Given the description of an element on the screen output the (x, y) to click on. 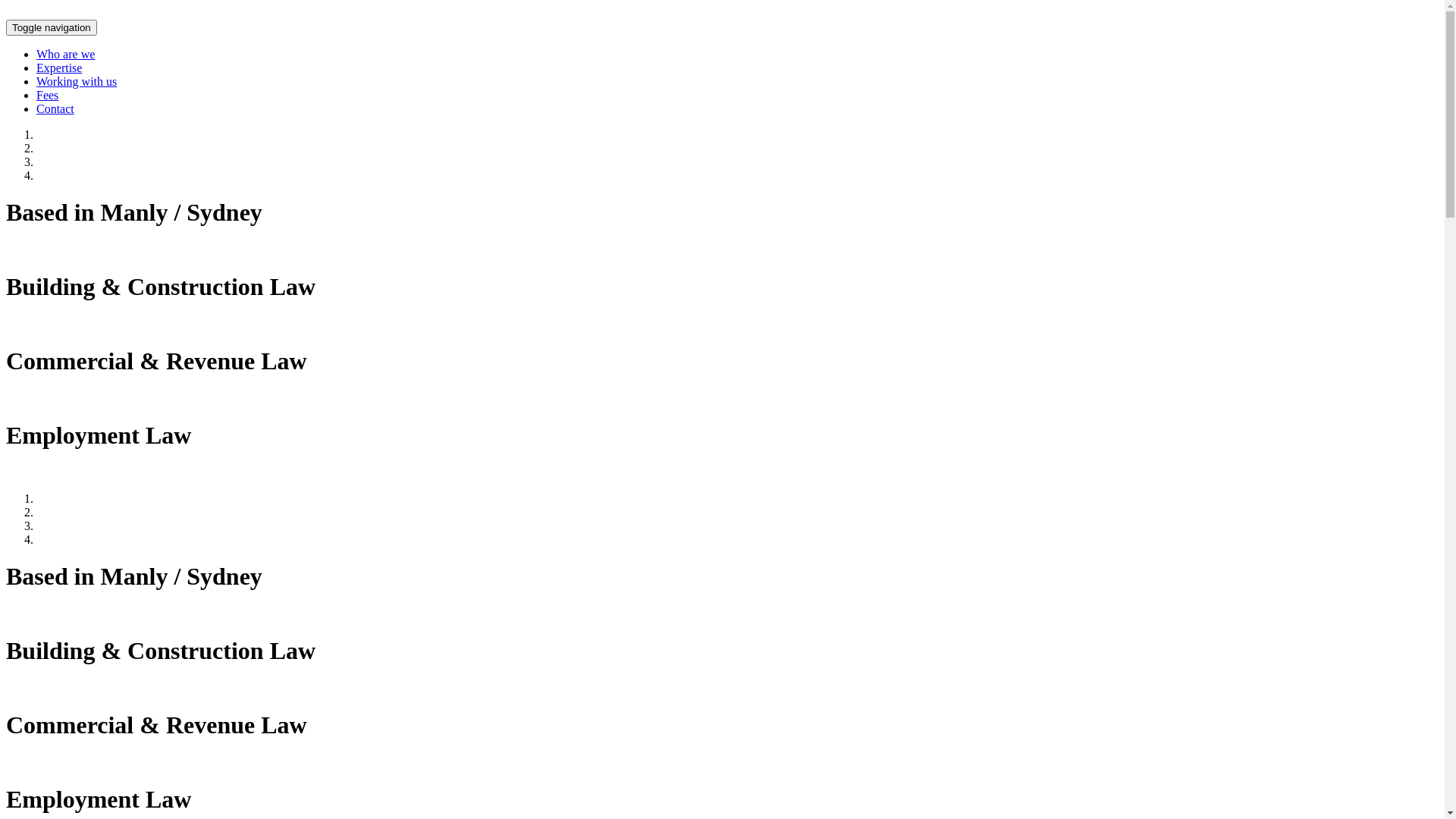
Who are we Element type: text (65, 53)
Working with us Element type: text (76, 81)
Expertise Element type: text (58, 67)
Toggle navigation Element type: text (51, 27)
Contact Element type: text (55, 108)
Fees Element type: text (47, 94)
